Given the description of an element on the screen output the (x, y) to click on. 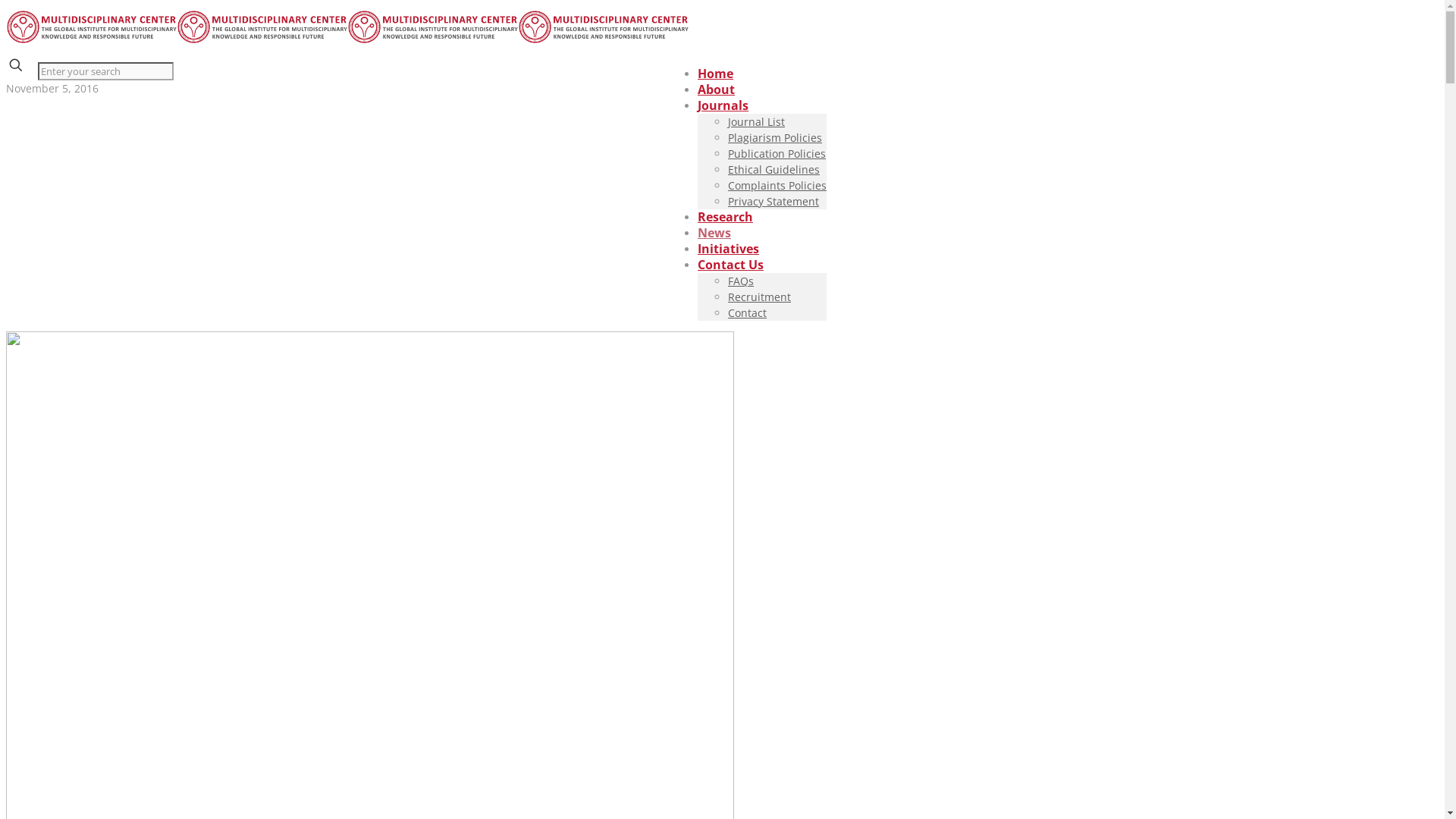
Journals Element type: text (722, 105)
About Element type: text (715, 89)
Contact Element type: text (747, 312)
Ethical Guidelines Element type: text (773, 169)
Privacy Statement Element type: text (773, 201)
News Element type: text (714, 232)
Contact Us Element type: text (730, 264)
Publication Policies Element type: text (776, 153)
Multidisciplinary Center Element type: hover (347, 39)
Journal List Element type: text (756, 121)
Home Element type: text (715, 73)
Plagiarism Policies Element type: text (775, 137)
Complaints Policies Element type: text (777, 185)
Recruitment Element type: text (759, 296)
Initiatives Element type: text (728, 248)
FAQs Element type: text (740, 280)
Research Element type: text (725, 216)
